Given the description of an element on the screen output the (x, y) to click on. 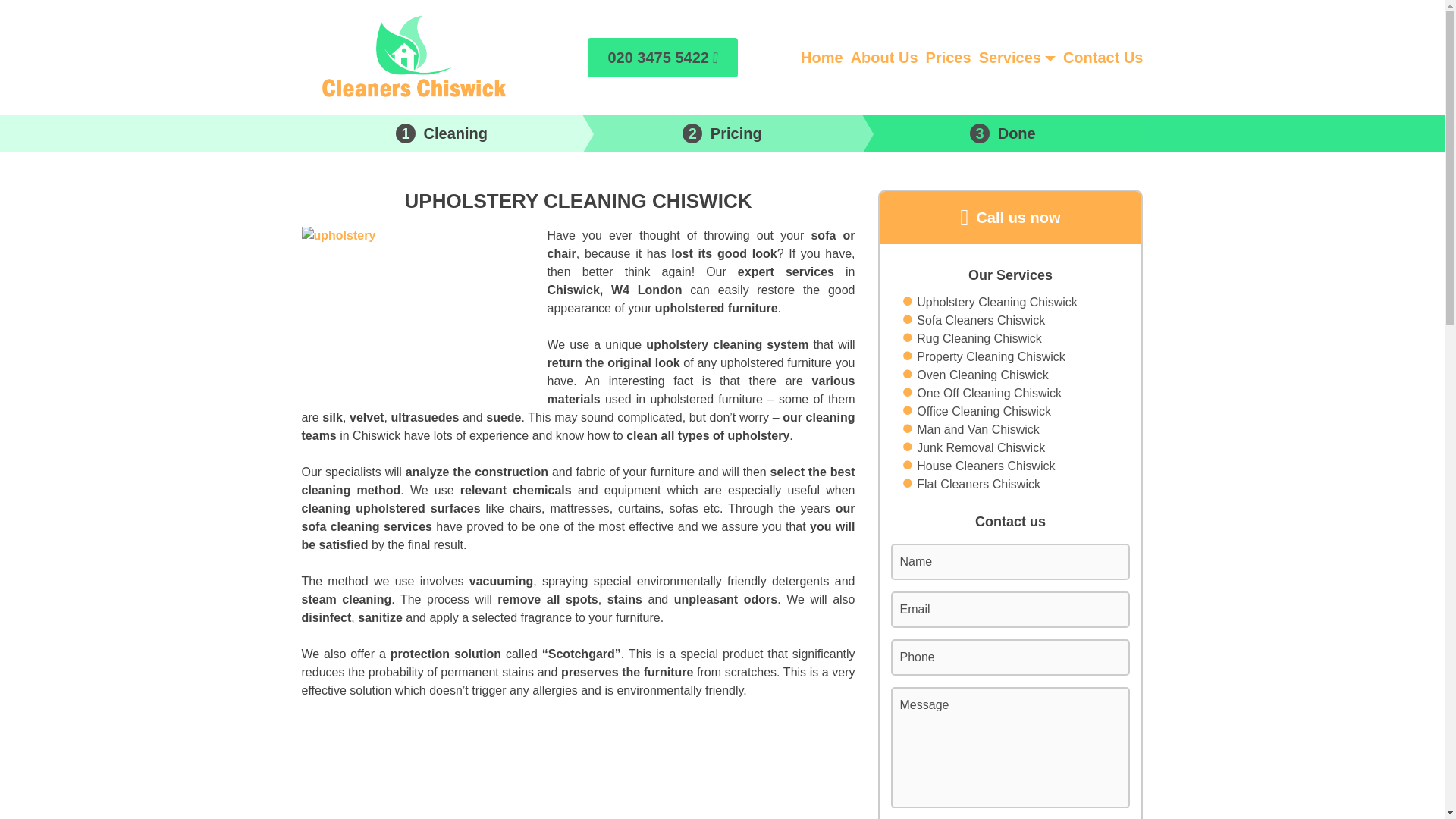
Sofa Cleaners Chiswick (981, 321)
Property Cleaning Chiswick (991, 357)
One Off Cleaning Chiswick (989, 393)
Office Cleaning Chiswick (984, 411)
Services (1009, 56)
Rug Cleaning Chiswick (979, 339)
Contact Us (1102, 56)
About Us (884, 56)
Flat Cleaners Chiswick (979, 484)
Home (821, 56)
